Given the description of an element on the screen output the (x, y) to click on. 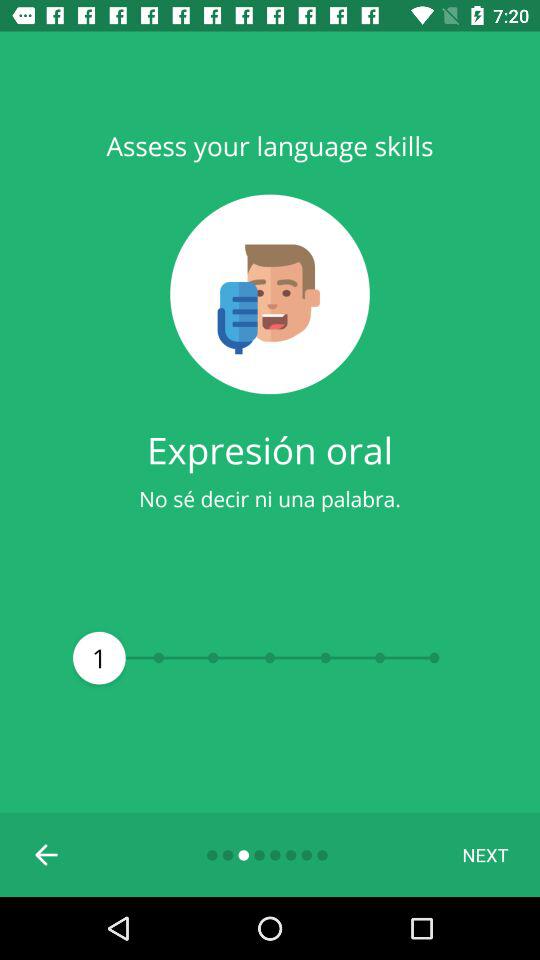
turn off next icon (485, 854)
